Given the description of an element on the screen output the (x, y) to click on. 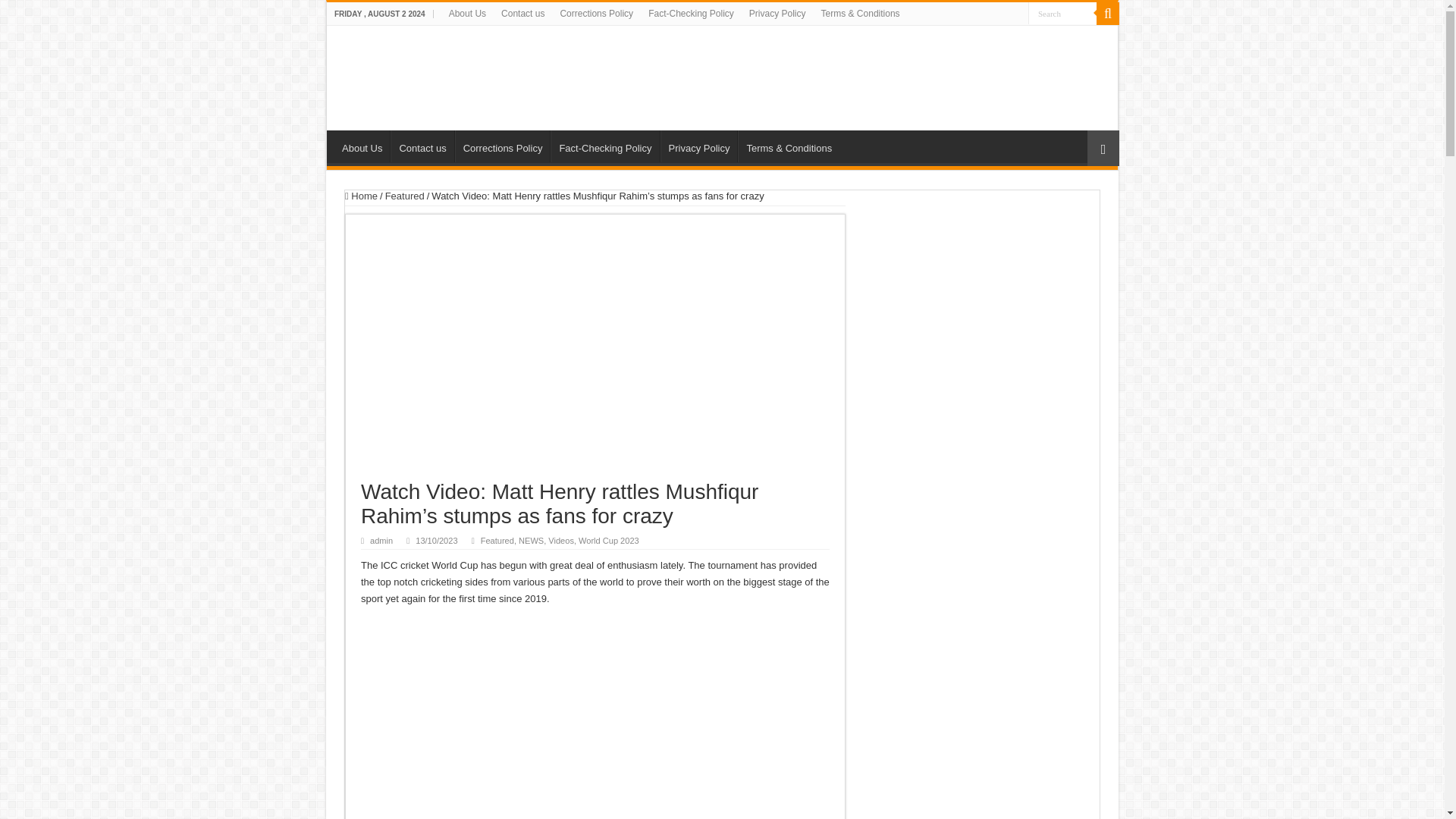
Featured (405, 195)
World Cup 2023 (608, 540)
Contact us (522, 13)
Contact us (421, 146)
CricSpirit (451, 74)
NEWS (530, 540)
Corrections Policy (595, 13)
Search (1061, 13)
Privacy Policy (699, 146)
Random Article (1103, 148)
Fact-Checking Policy (604, 146)
Featured (496, 540)
Privacy Policy (777, 13)
admin (381, 540)
Corrections Policy (502, 146)
